Given the description of an element on the screen output the (x, y) to click on. 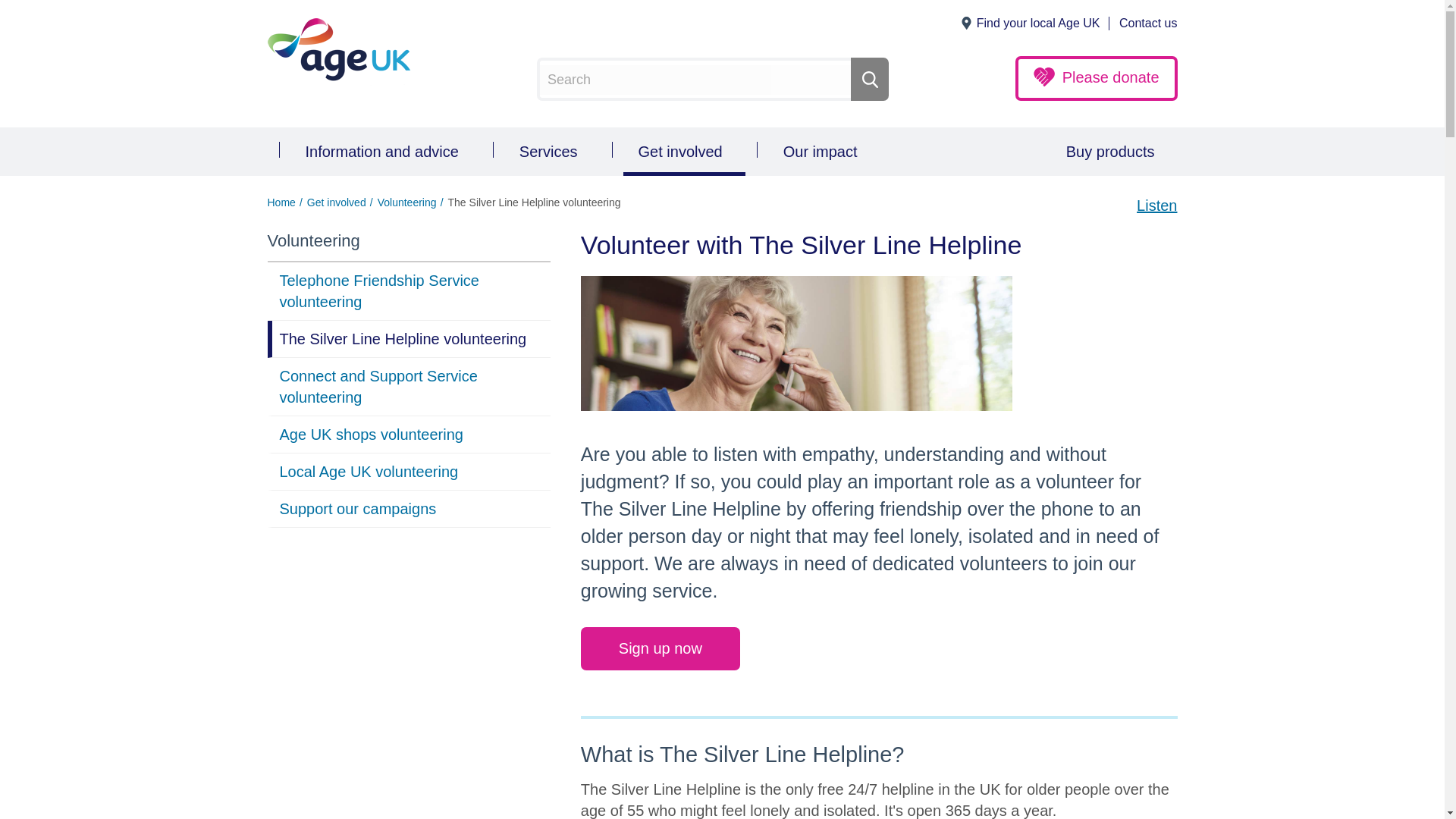
Contact us (1147, 23)
Listen to this page using ReadSpeaker (1156, 212)
Find your local Age UK (1037, 23)
Please donate (1095, 78)
Information and advice (384, 151)
